Given the description of an element on the screen output the (x, y) to click on. 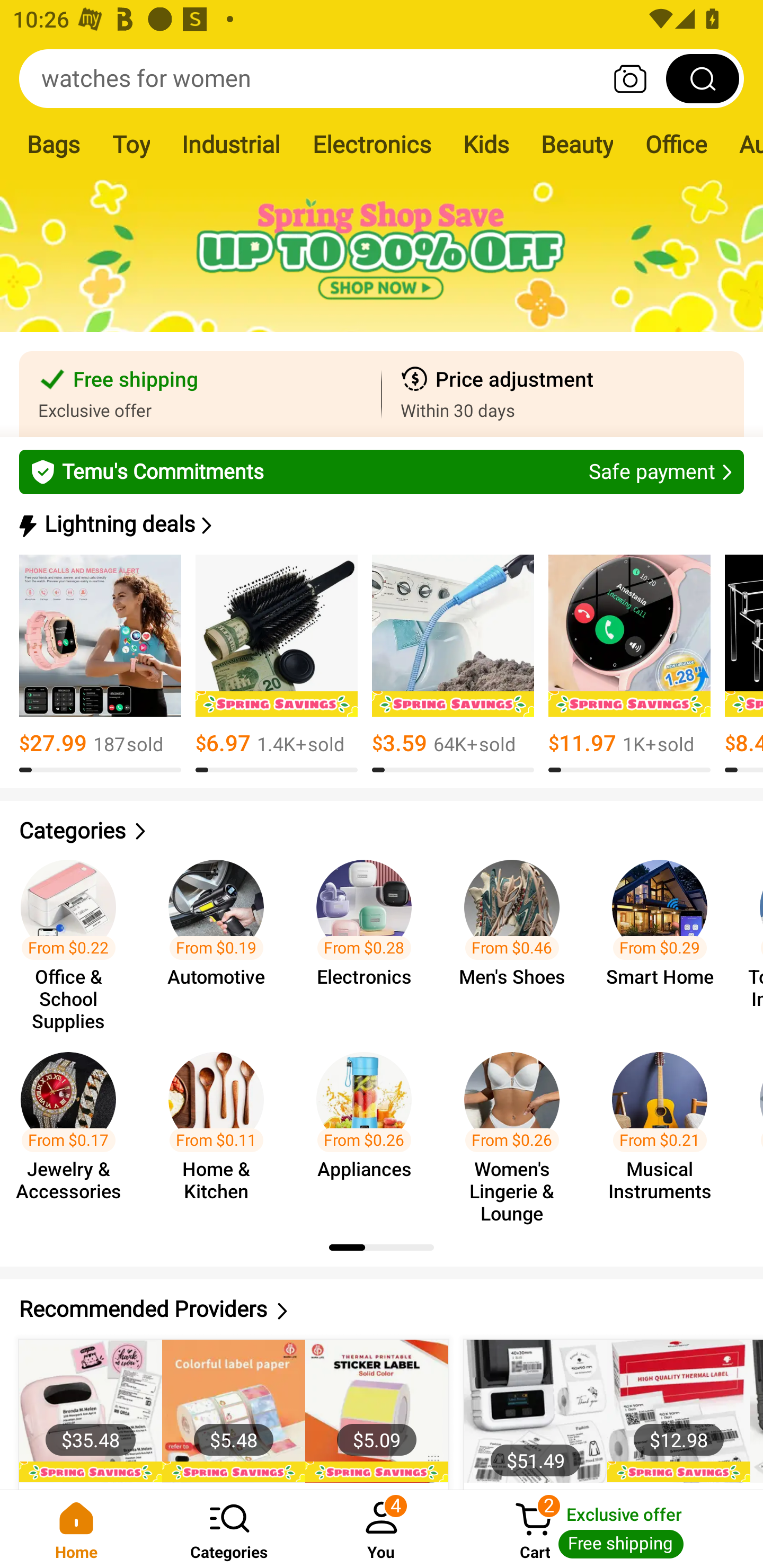
watches for women (381, 78)
Bags (53, 144)
Toy (130, 144)
Industrial (230, 144)
Electronics (371, 144)
Kids (485, 144)
Beauty (576, 144)
Office (675, 144)
Free shipping Exclusive offer (200, 394)
Price adjustment Within 30 days (562, 394)
Temu's Commitments (381, 471)
Lightning deals (379, 524)
$27.99 187￼sold 8.0 (100, 664)
$6.97 1.4K+￼sold 8.0 (276, 664)
$3.59 64K+￼sold 8.0 (453, 664)
$11.97 1K+￼sold 8.0 (629, 664)
Categories (381, 830)
From $0.22 Office & School Supplies (74, 936)
From $0.19 Automotive (222, 936)
From $0.28 Electronics (369, 936)
From $0.46 Men's Shoes (517, 936)
From $0.29 Smart Home (665, 936)
From $0.17 Jewelry & Accessories (74, 1128)
From $0.11 Home & Kitchen (222, 1128)
From $0.26 Appliances (369, 1128)
From $0.26 Women's Lingerie & Lounge (517, 1128)
From $0.21 Musical Instruments (665, 1128)
Recommended Providers (381, 1309)
Home (76, 1528)
Categories (228, 1528)
You 4 You (381, 1528)
Cart 2 Cart Exclusive offer (610, 1528)
